Given the description of an element on the screen output the (x, y) to click on. 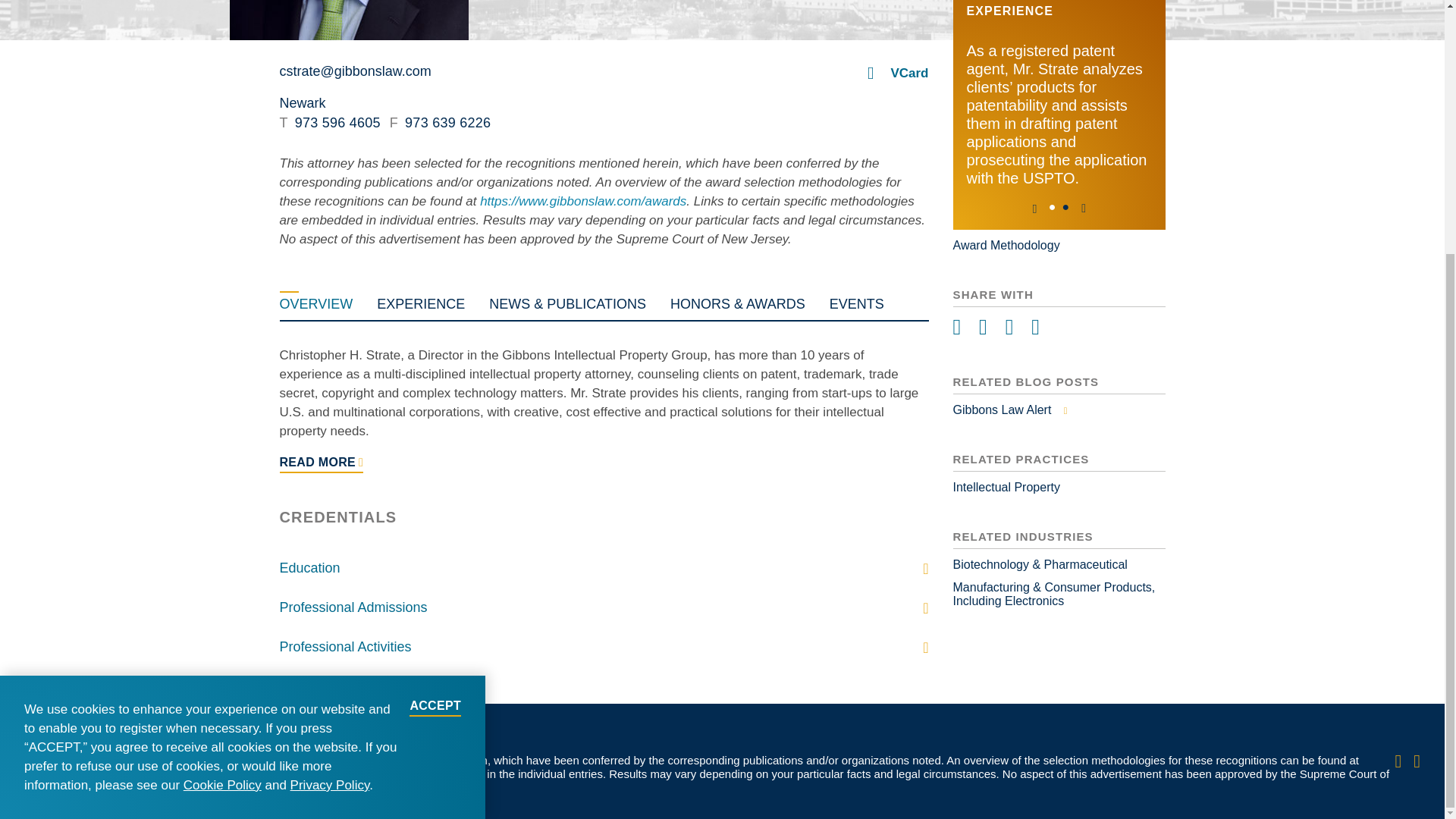
Related Blog Posts (1058, 409)
VCard (908, 72)
973 639 6226 (440, 122)
973 596 4605 (329, 122)
EVENTS (856, 301)
OVERVIEW (315, 301)
EXPERIENCE (420, 301)
Share With (1058, 327)
Related Industries (1058, 582)
Related Practices (1058, 487)
READ MORE (320, 464)
Newark (301, 102)
